Given the description of an element on the screen output the (x, y) to click on. 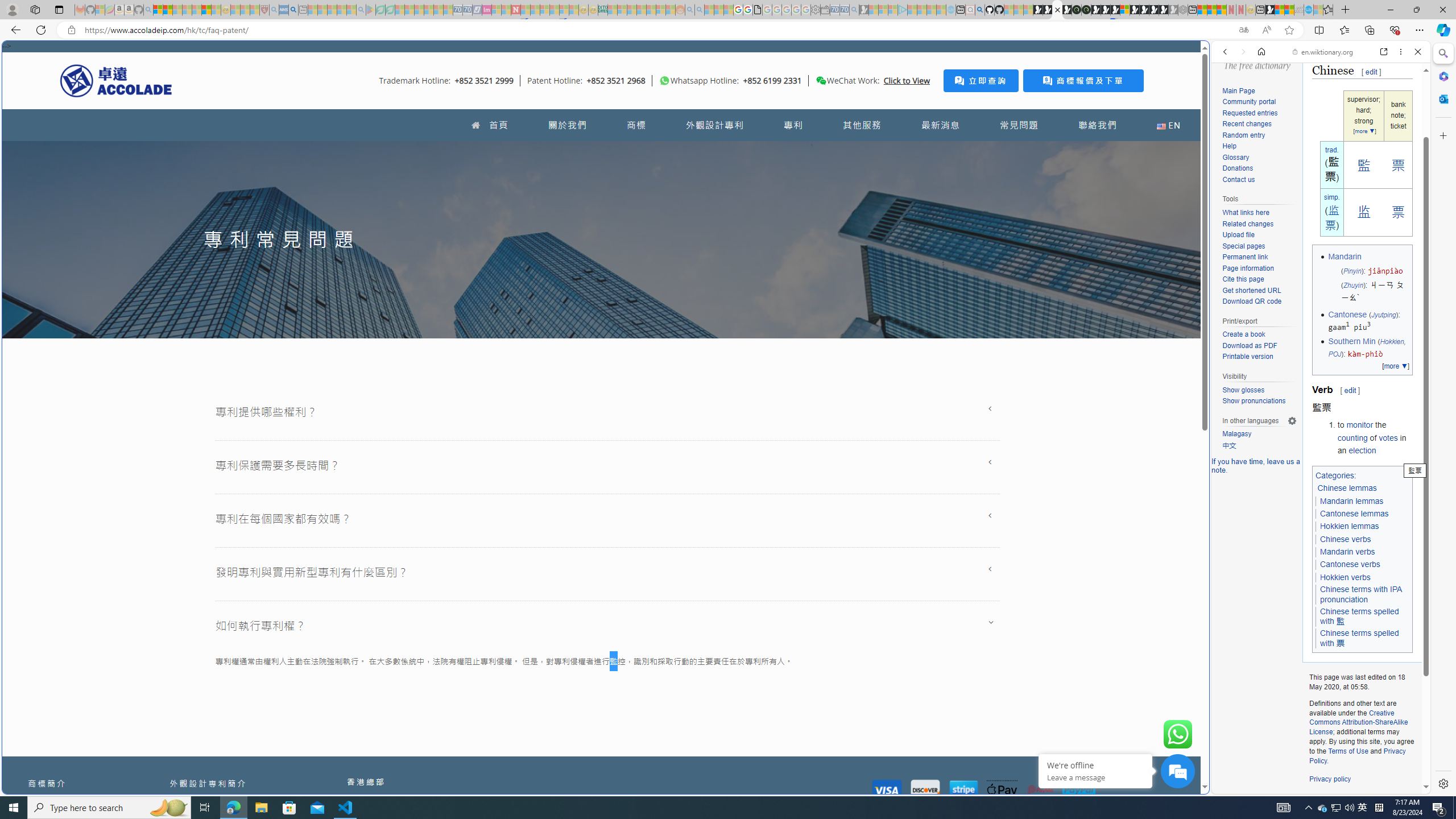
If you have time, leave us a note. (1255, 465)
Contact us (1238, 179)
